Given the description of an element on the screen output the (x, y) to click on. 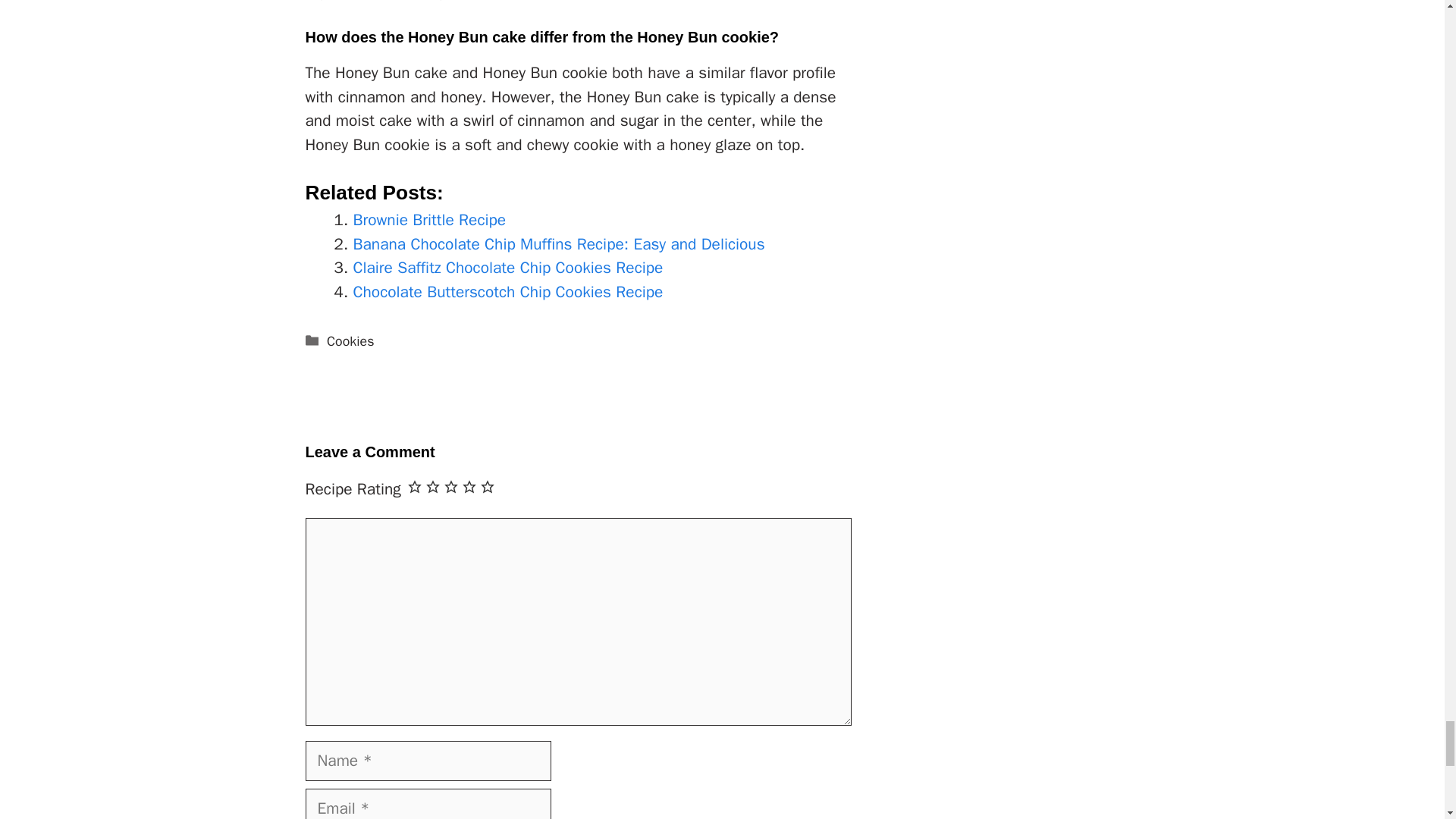
Banana Chocolate Chip Muffins Recipe: Easy and Delicious (559, 243)
Claire Saffitz Chocolate Chip Cookies Recipe (508, 267)
Claire Saffitz Chocolate Chip Cookies Recipe (508, 267)
Chocolate Butterscotch Chip Cookies Recipe (508, 291)
Chocolate Butterscotch Chip Cookies Recipe (508, 291)
Brownie Brittle Recipe (429, 219)
Brownie Brittle Recipe (429, 219)
Banana Chocolate Chip Muffins Recipe: Easy and Delicious (559, 243)
Cookies (350, 340)
